Given the description of an element on the screen output the (x, y) to click on. 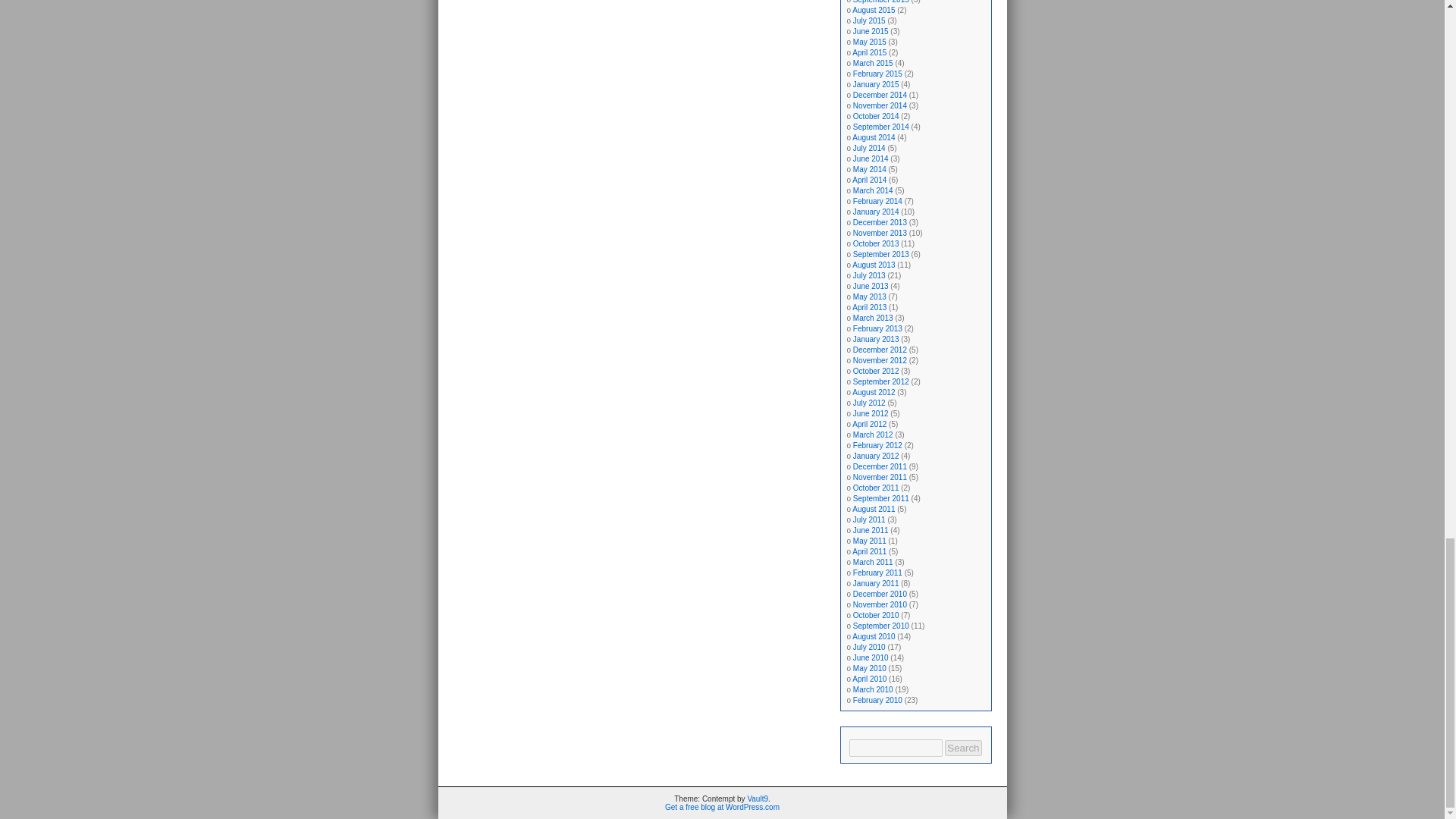
Search (962, 747)
